Given the description of an element on the screen output the (x, y) to click on. 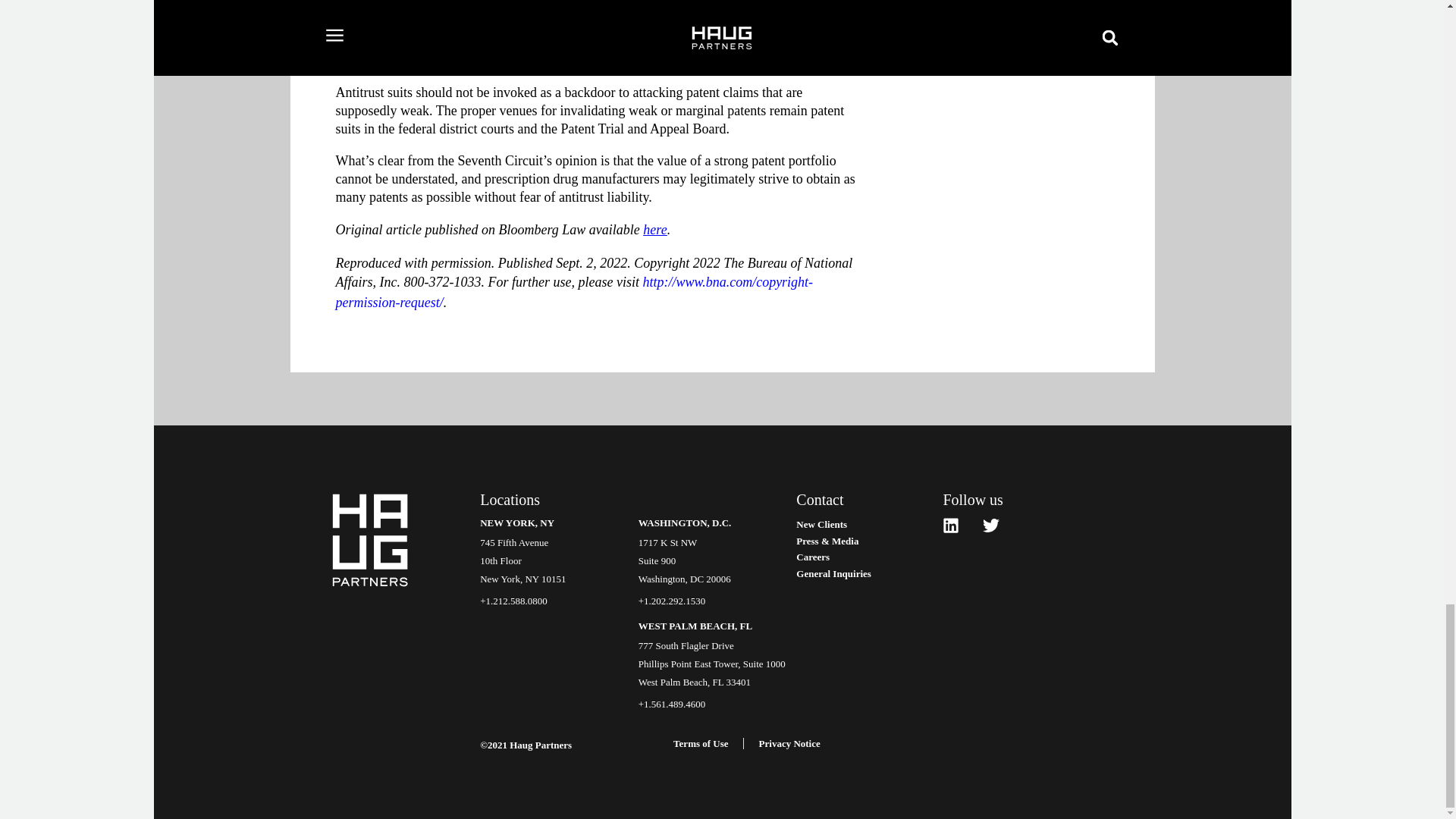
General Inquiries (869, 573)
WEST PALM BEACH, FL (695, 625)
NEW YORK, NY (517, 522)
New Clients (869, 524)
Terms of Use (700, 743)
WASHINGTON, D.C. (685, 522)
Privacy Notice (789, 743)
Careers (869, 557)
here (654, 229)
